Given the description of an element on the screen output the (x, y) to click on. 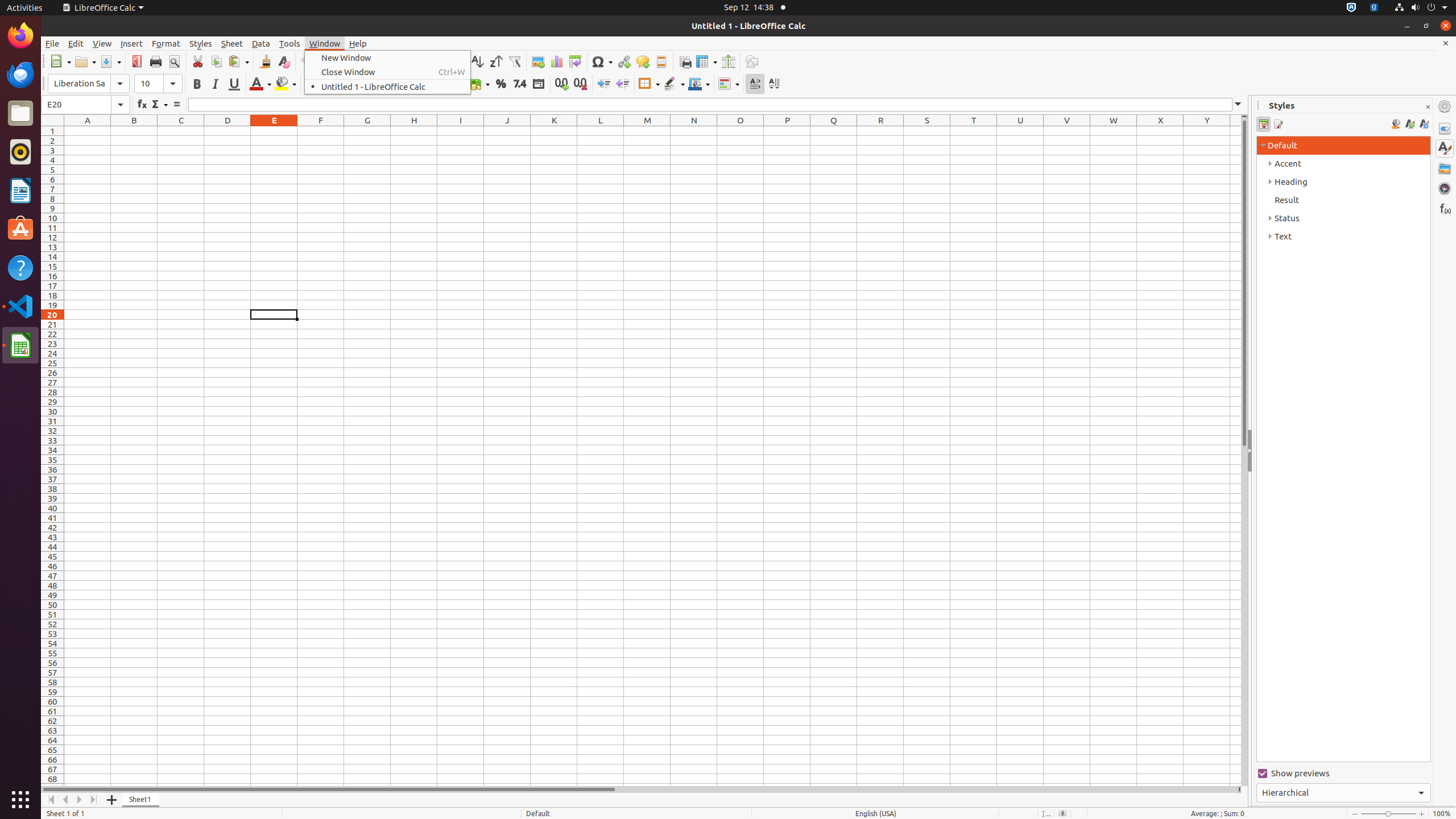
Italic Element type: toggle-button (214, 83)
Edit Element type: menu (75, 43)
I1 Element type: table-cell (460, 130)
Clone Element type: push-button (264, 61)
Symbol Element type: push-button (601, 61)
